Given the description of an element on the screen output the (x, y) to click on. 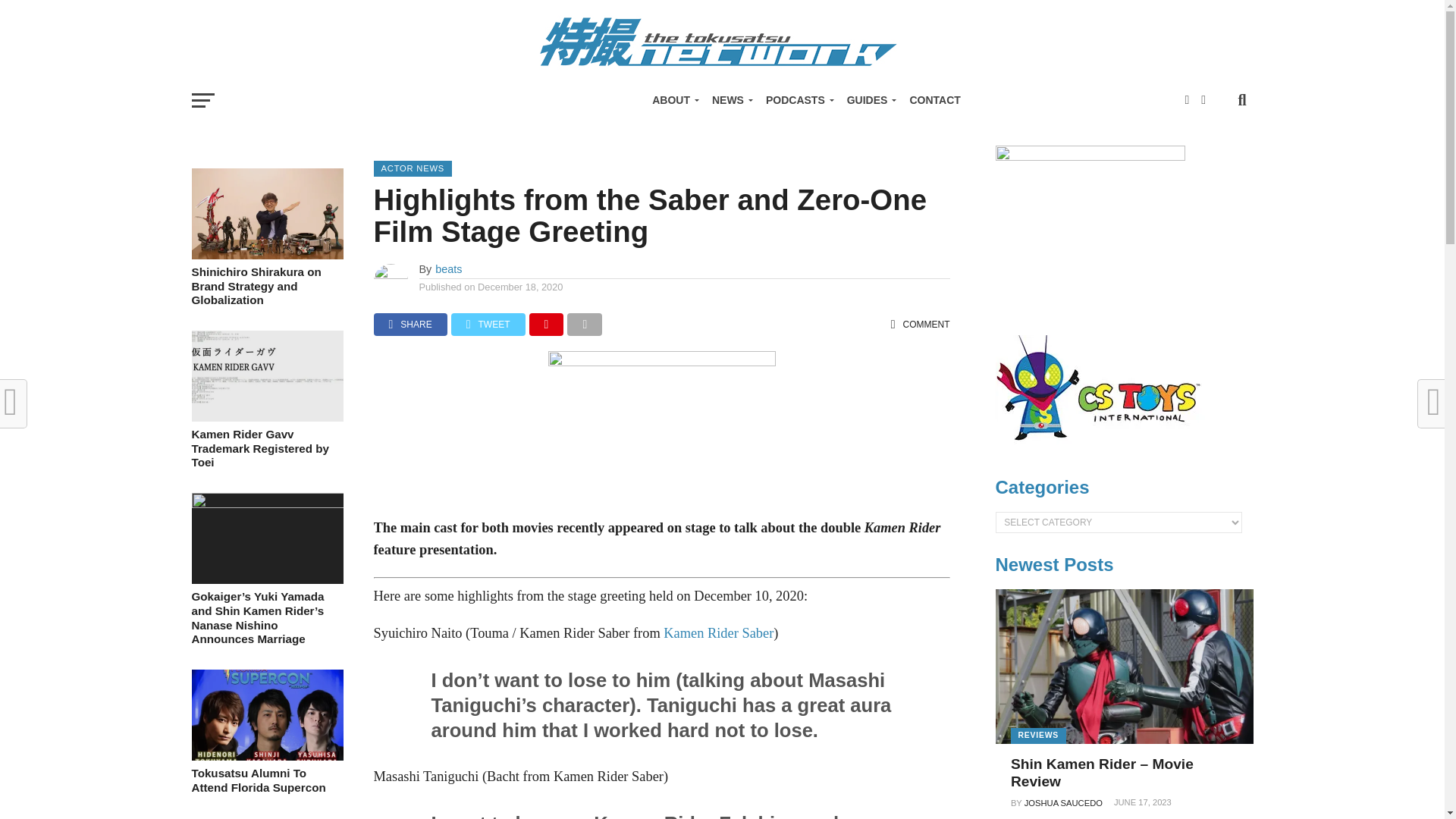
Posts by beats (448, 268)
Shinichiro Shirakura on Brand Strategy and Globalization (266, 254)
PODCASTS (797, 99)
Kamen Rider Gavv Trademark Registered by Toei (266, 417)
ABOUT (673, 99)
Tokusatsu Alumni To Attend Florida Supercon (266, 756)
NEWS (730, 99)
CONTACT (934, 99)
GUIDES (869, 99)
